Given the description of an element on the screen output the (x, y) to click on. 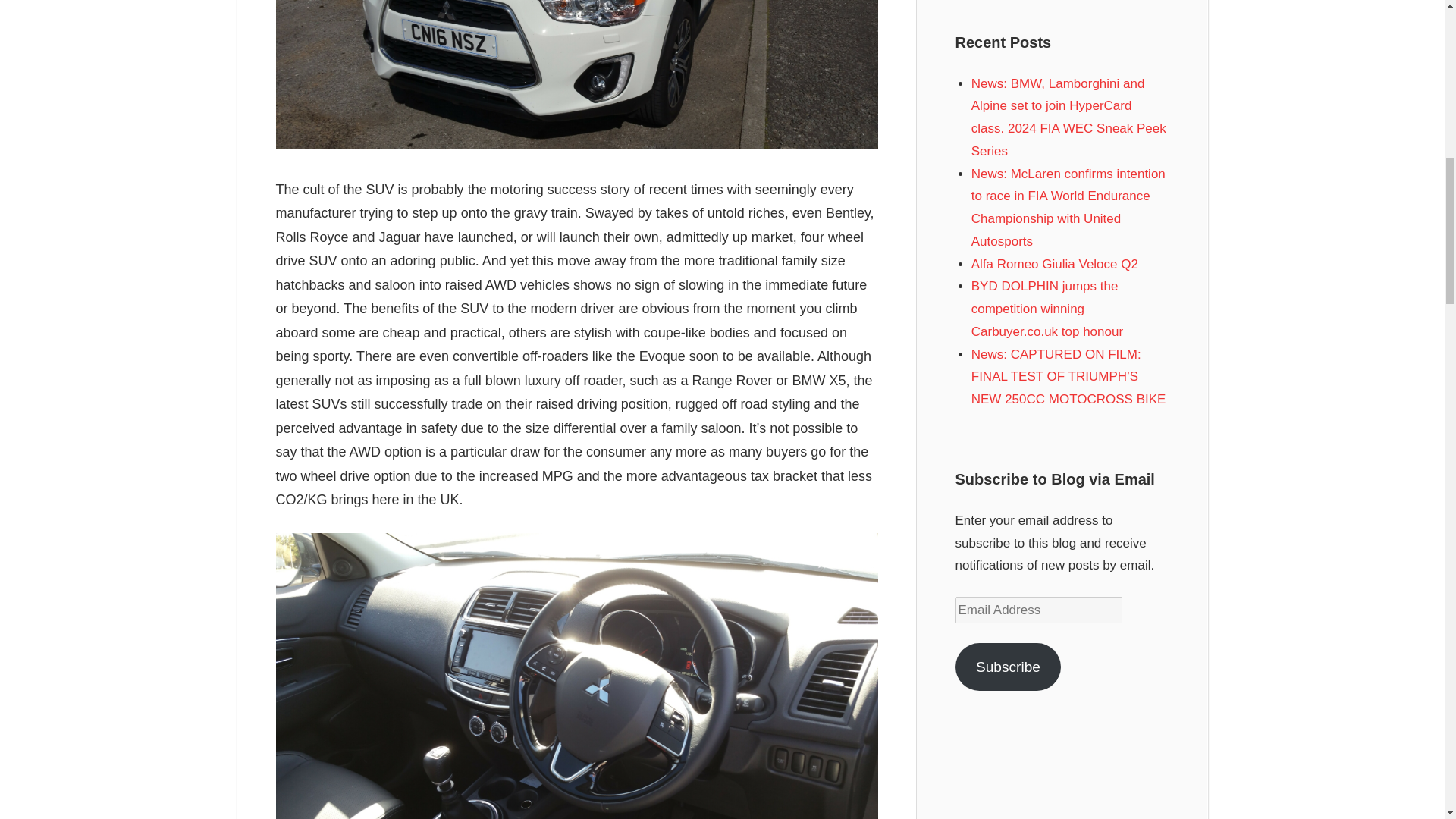
Alfa Romeo Giulia Veloce Q2 (1054, 263)
wp-1462830549149 (576, 74)
